Given the description of an element on the screen output the (x, y) to click on. 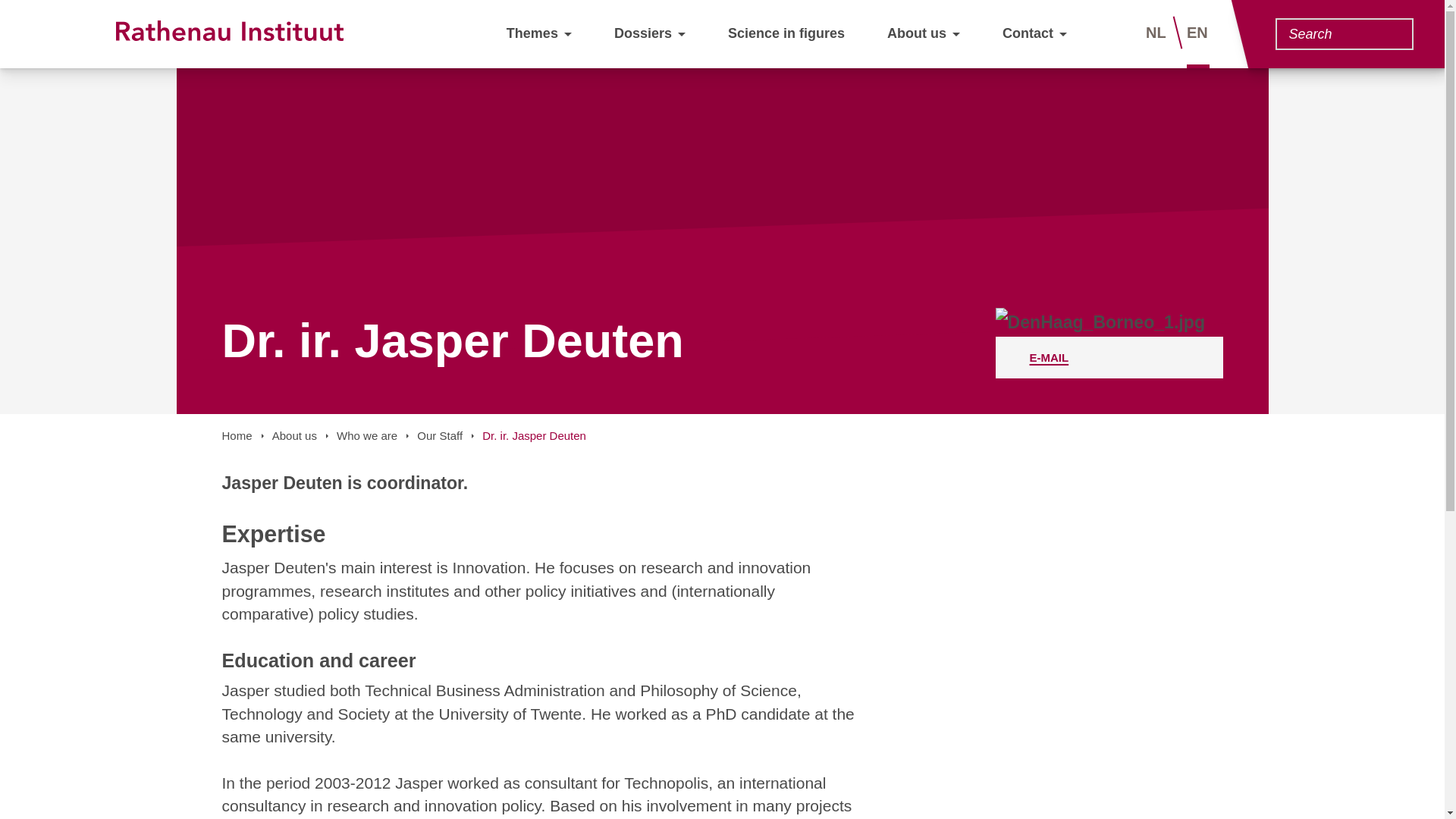
English (1197, 33)
Home (236, 435)
Search (1393, 36)
Our Staff (1027, 33)
Enter the terms you wish to search for. (439, 435)
Science in figures (1334, 33)
Who we are (786, 33)
E-MAIL (366, 435)
Nederlands (1108, 357)
About us (1157, 33)
